Given the description of an element on the screen output the (x, y) to click on. 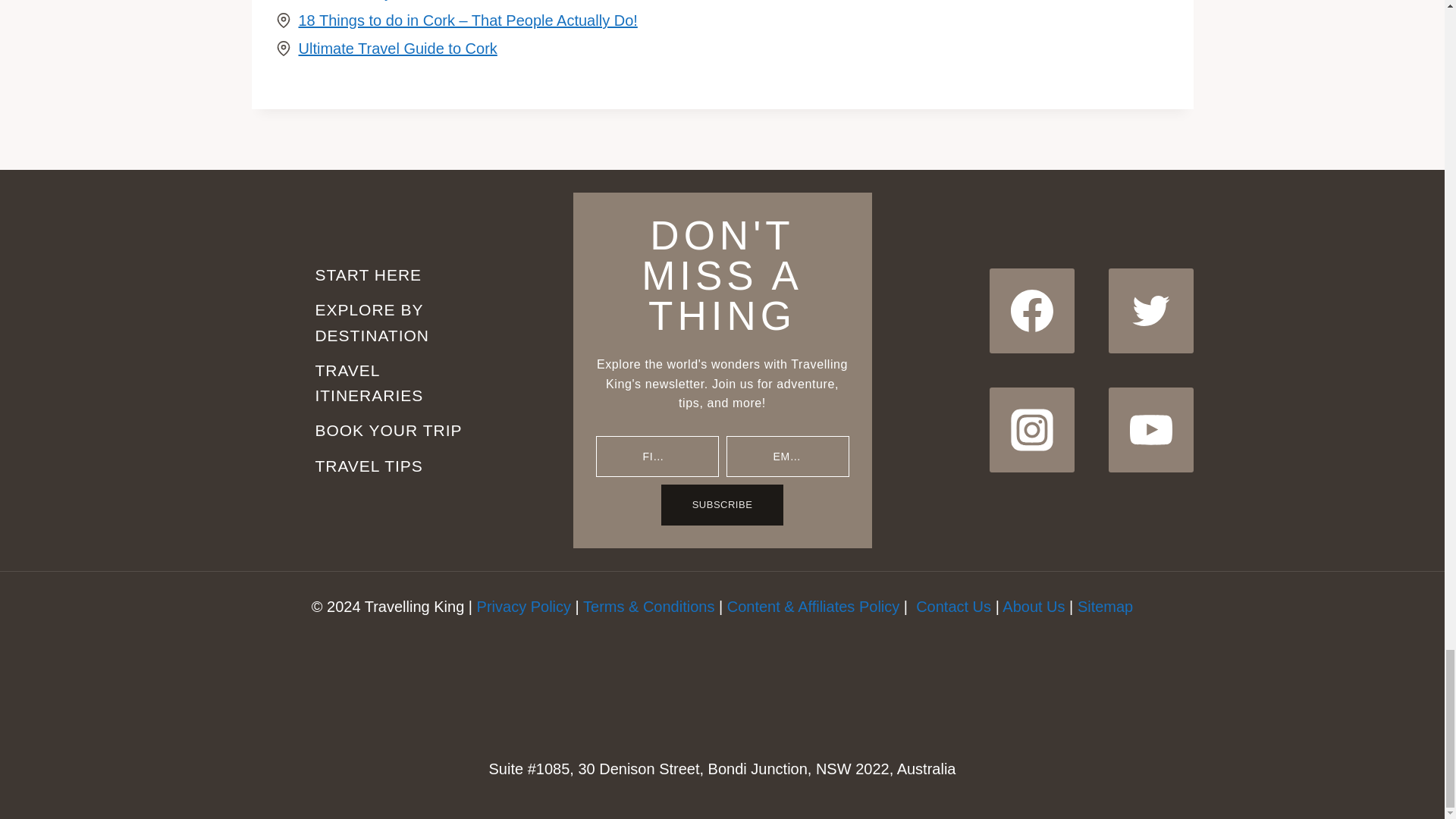
Terms and conditions (648, 606)
